Given the description of an element on the screen output the (x, y) to click on. 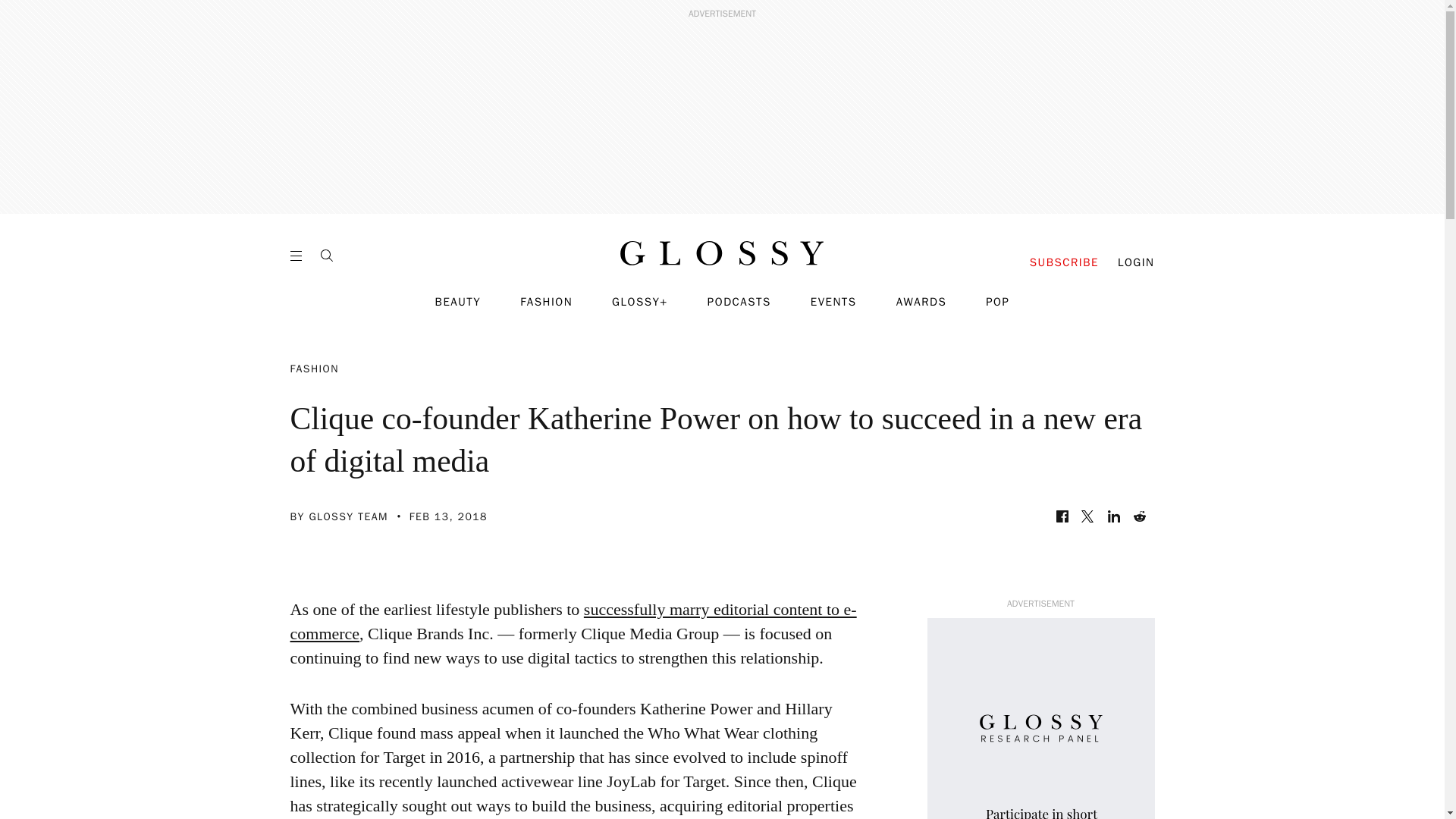
LOGIN (1136, 262)
FASHION (545, 301)
EVENTS (833, 301)
BEAUTY (458, 301)
SUBSCRIBE (1064, 262)
PODCASTS (739, 301)
AWARDS (921, 301)
POP (997, 301)
